Given the description of an element on the screen output the (x, y) to click on. 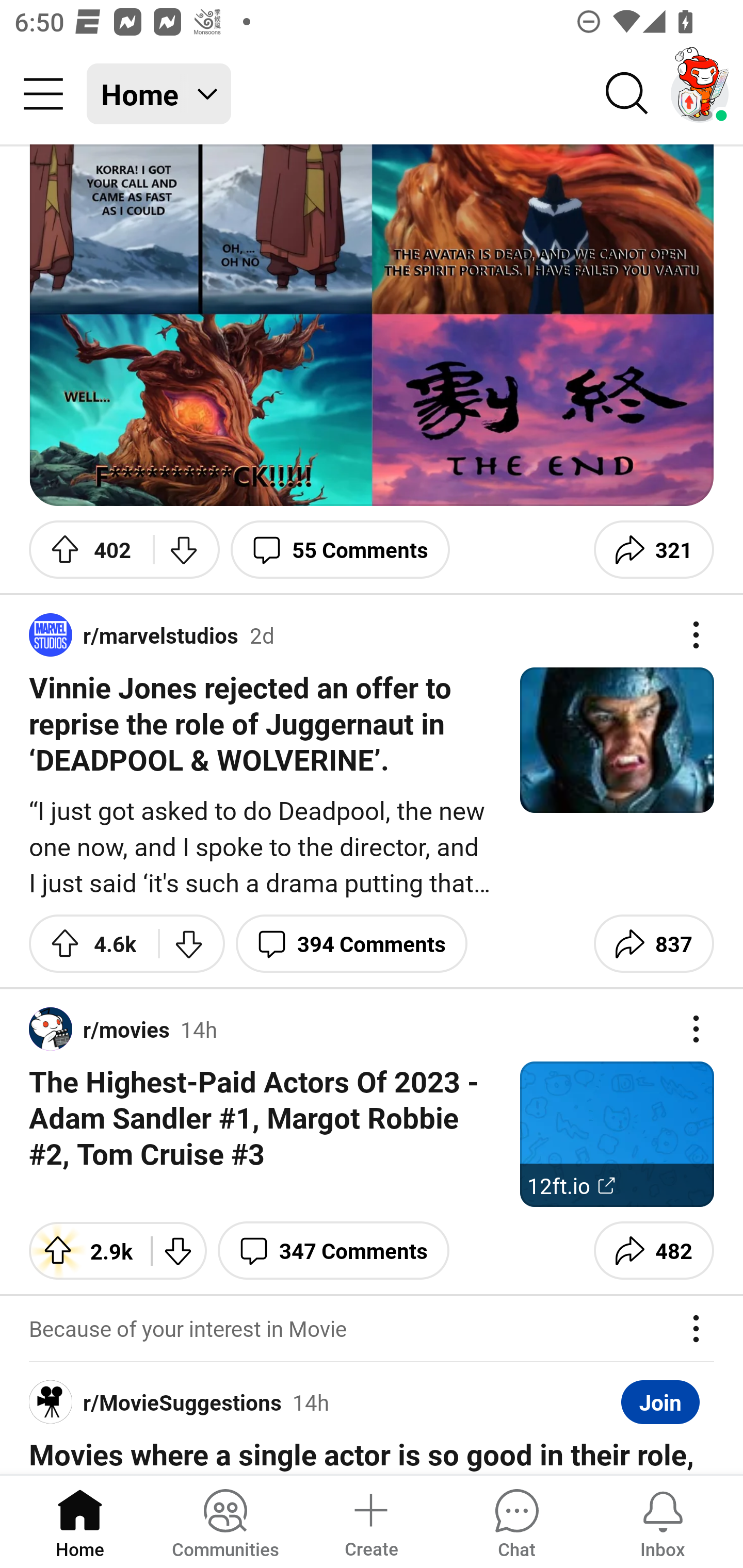
Community menu (43, 93)
Home Home feed (158, 93)
Search (626, 93)
TestAppium002 account (699, 93)
Home (80, 1520)
Communities (225, 1520)
Create a post Create (370, 1520)
Chat (516, 1520)
Inbox (662, 1520)
